Given the description of an element on the screen output the (x, y) to click on. 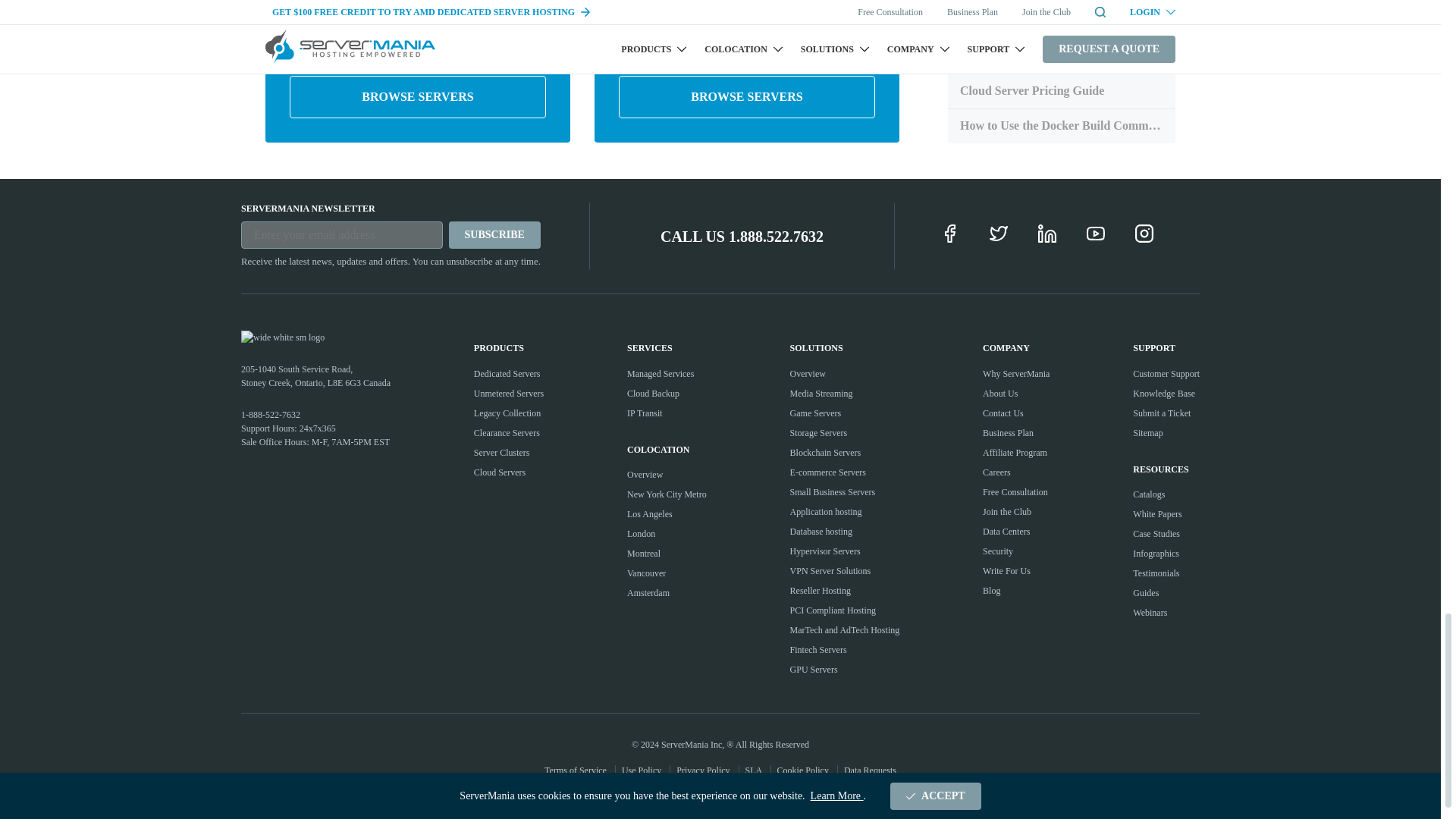
Subscribe (494, 234)
